Given the description of an element on the screen output the (x, y) to click on. 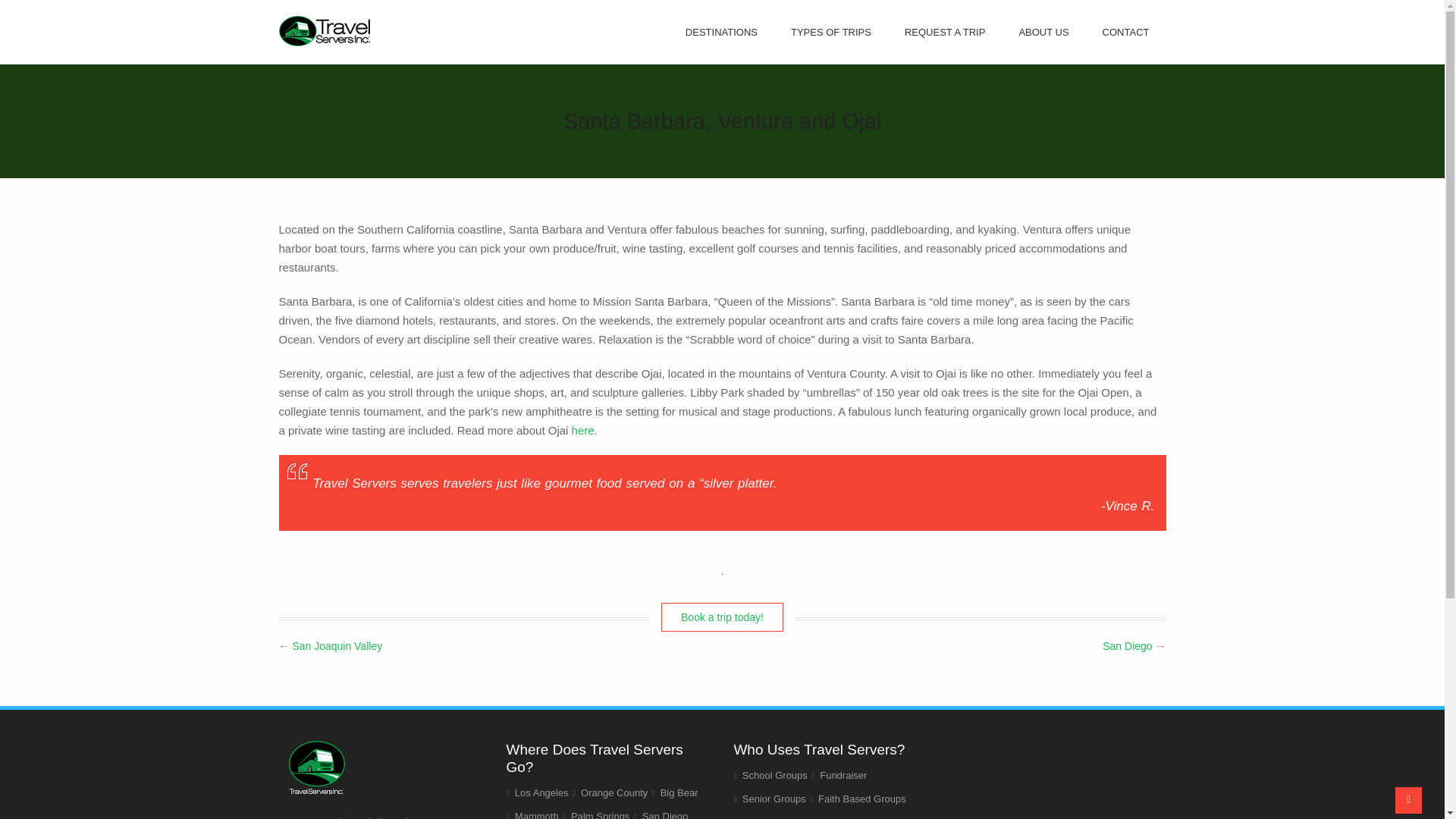
Faith Based Groups (861, 798)
DESTINATIONS (721, 32)
School Groups (775, 775)
San Diego (665, 814)
Book a trip today! (722, 616)
REQUEST A TRIP (944, 32)
Fundraiser (842, 775)
Mammoth (537, 814)
ABOUT US (1042, 32)
Palm Springs (599, 814)
